Given the description of an element on the screen output the (x, y) to click on. 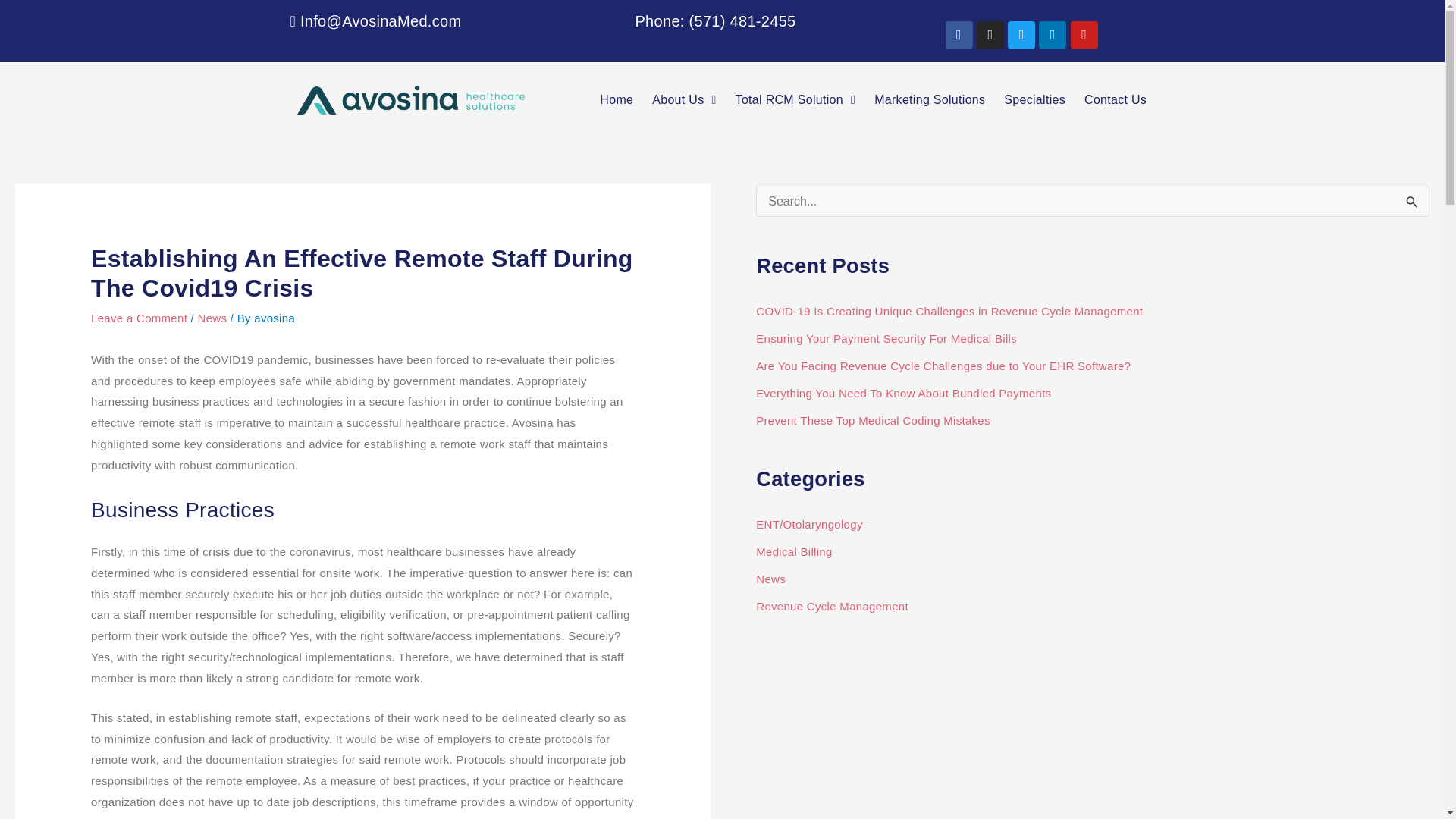
Linkedin (1052, 34)
Youtube (1083, 34)
Marketing Solutions (930, 99)
Total RCM Solution (795, 99)
Twitter (1021, 34)
Specialties (1034, 99)
Facebook (958, 34)
View all posts by avosina (274, 318)
Instagram (990, 34)
Contact Us (1115, 99)
About Us (684, 99)
